Given the description of an element on the screen output the (x, y) to click on. 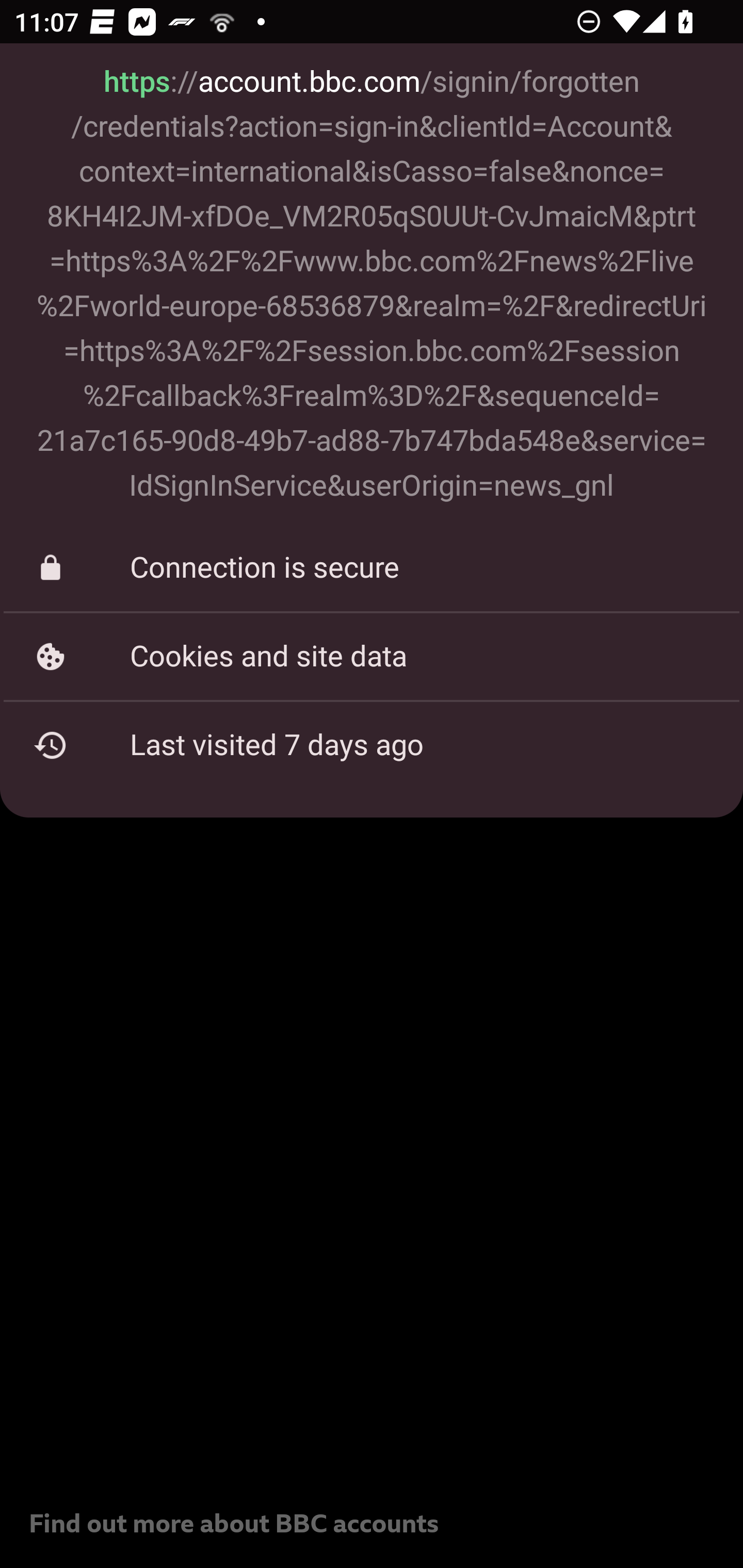
Connection is secure (371, 568)
Cookies and site data (371, 656)
Last visited 7 days ago (371, 745)
